Given the description of an element on the screen output the (x, y) to click on. 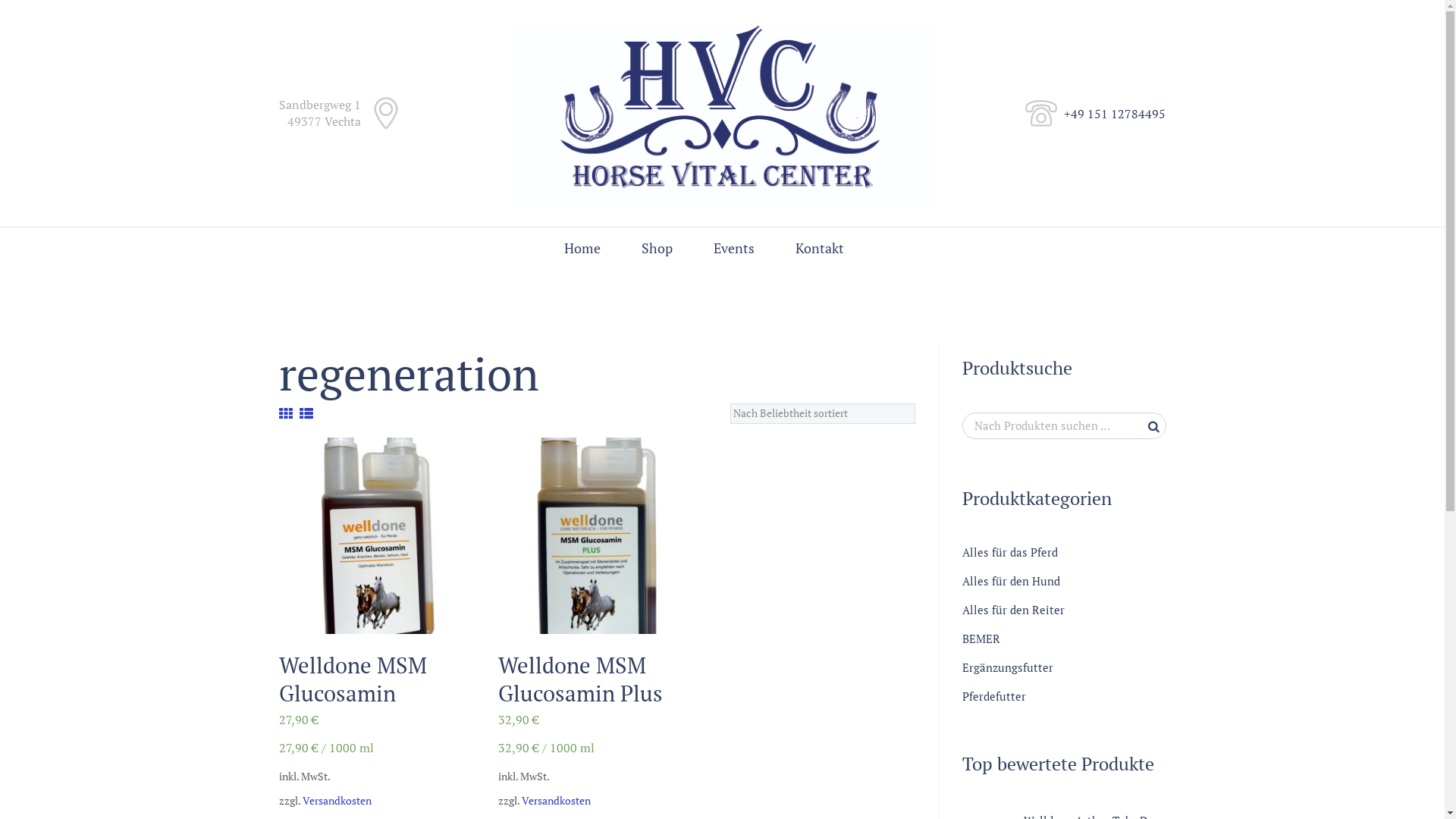
Nach Produkten suchen Element type: hover (1063, 425)
Shop Element type: text (657, 248)
Home Element type: text (582, 248)
+49 151 12784495 Element type: text (1114, 113)
Versandkosten Element type: text (335, 800)
BEMER Element type: text (980, 638)
Versandkosten Element type: text (555, 800)
Show products as thumbs Element type: hover (285, 413)
Welldone MSM Glucosamin Element type: text (352, 678)
Show products as list Element type: hover (305, 413)
Events Element type: text (734, 248)
Pferdefutter Element type: text (993, 695)
Welldone MSM Glucosamin Plus Element type: text (580, 678)
Kontakt Element type: text (819, 248)
